Given the description of an element on the screen output the (x, y) to click on. 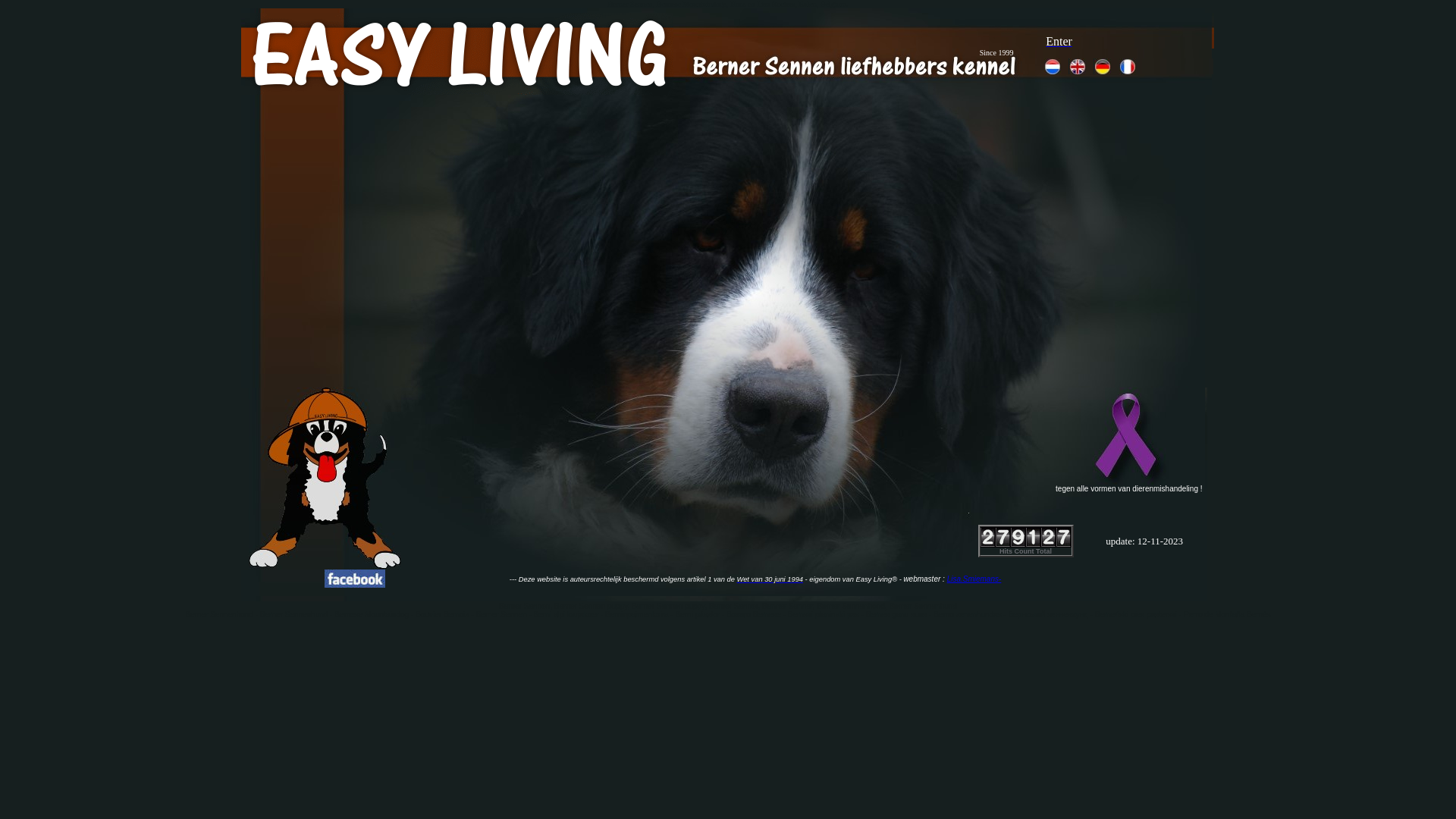
Wet van 30 juni 1994 Element type: text (770, 578)
hitwebcounter webcounter Element type: hover (1025, 537)
- Element type: text (900, 578)
- Element type: text (999, 578)
Hits Count Total Element type: text (1025, 551)
Lisa.Smiemans Element type: text (972, 578)
Enter Element type: text (1058, 40)
